Given the description of an element on the screen output the (x, y) to click on. 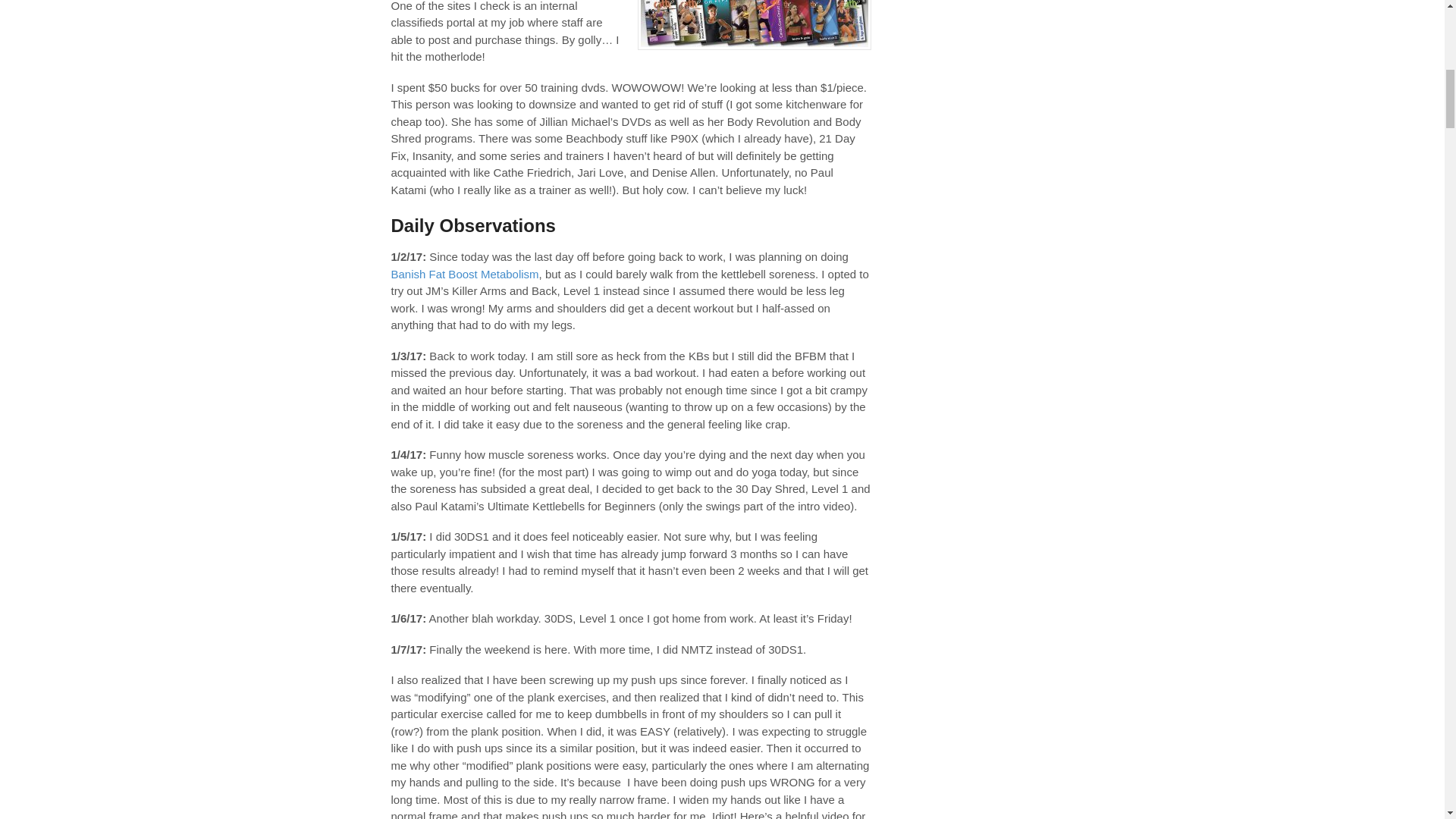
Banish Fat Boost Metabolism (464, 273)
